Given the description of an element on the screen output the (x, y) to click on. 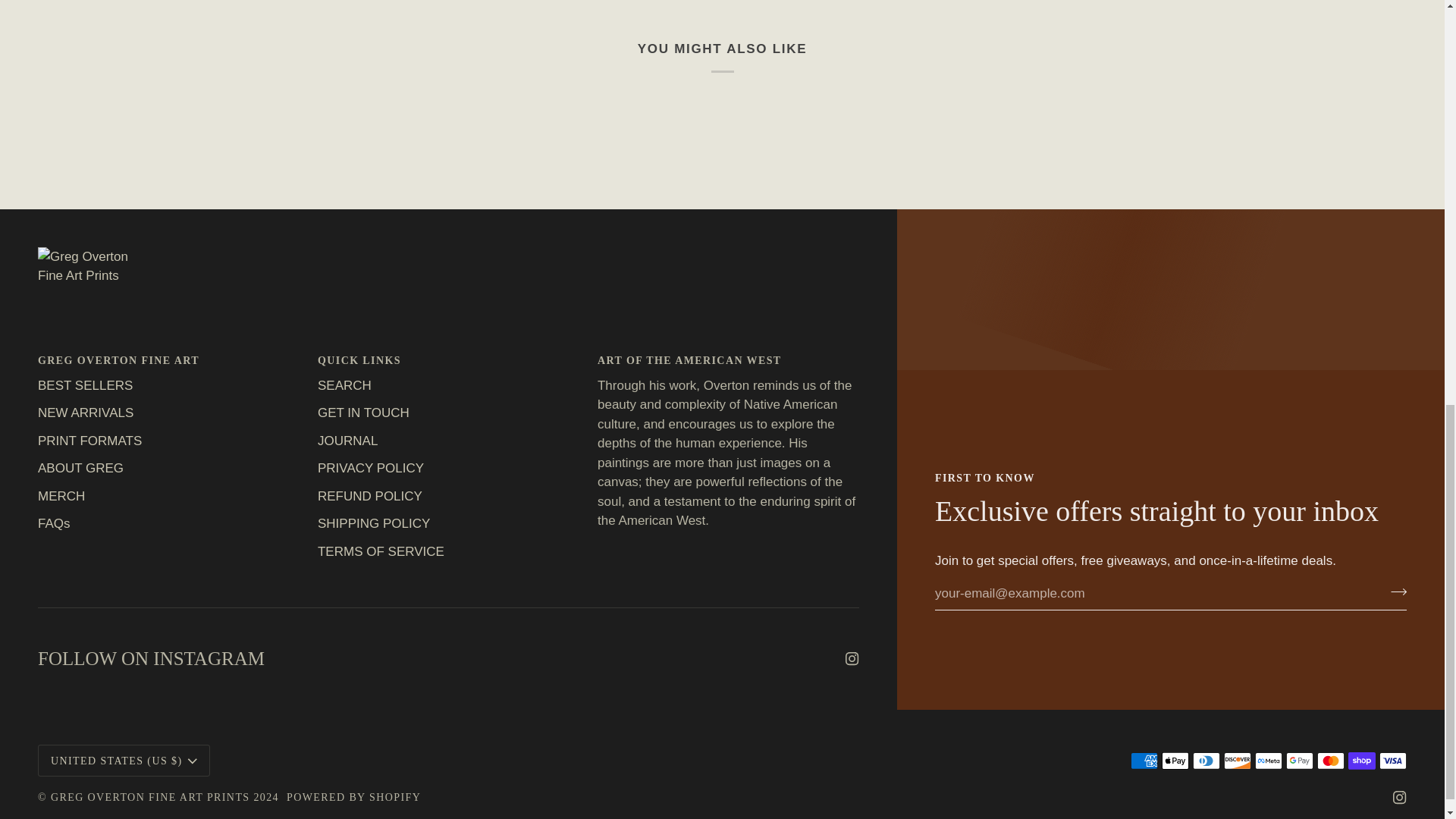
MASTERCARD (1330, 760)
DINERS CLUB (1206, 760)
SHOP PAY (1361, 760)
DISCOVER (1237, 760)
VISA (1392, 760)
APPLE PAY (1175, 760)
Instagram (852, 658)
AMERICAN EXPRESS (1144, 760)
GOOGLE PAY (1299, 760)
Instagram (1399, 797)
META PAY (1268, 760)
